Given the description of an element on the screen output the (x, y) to click on. 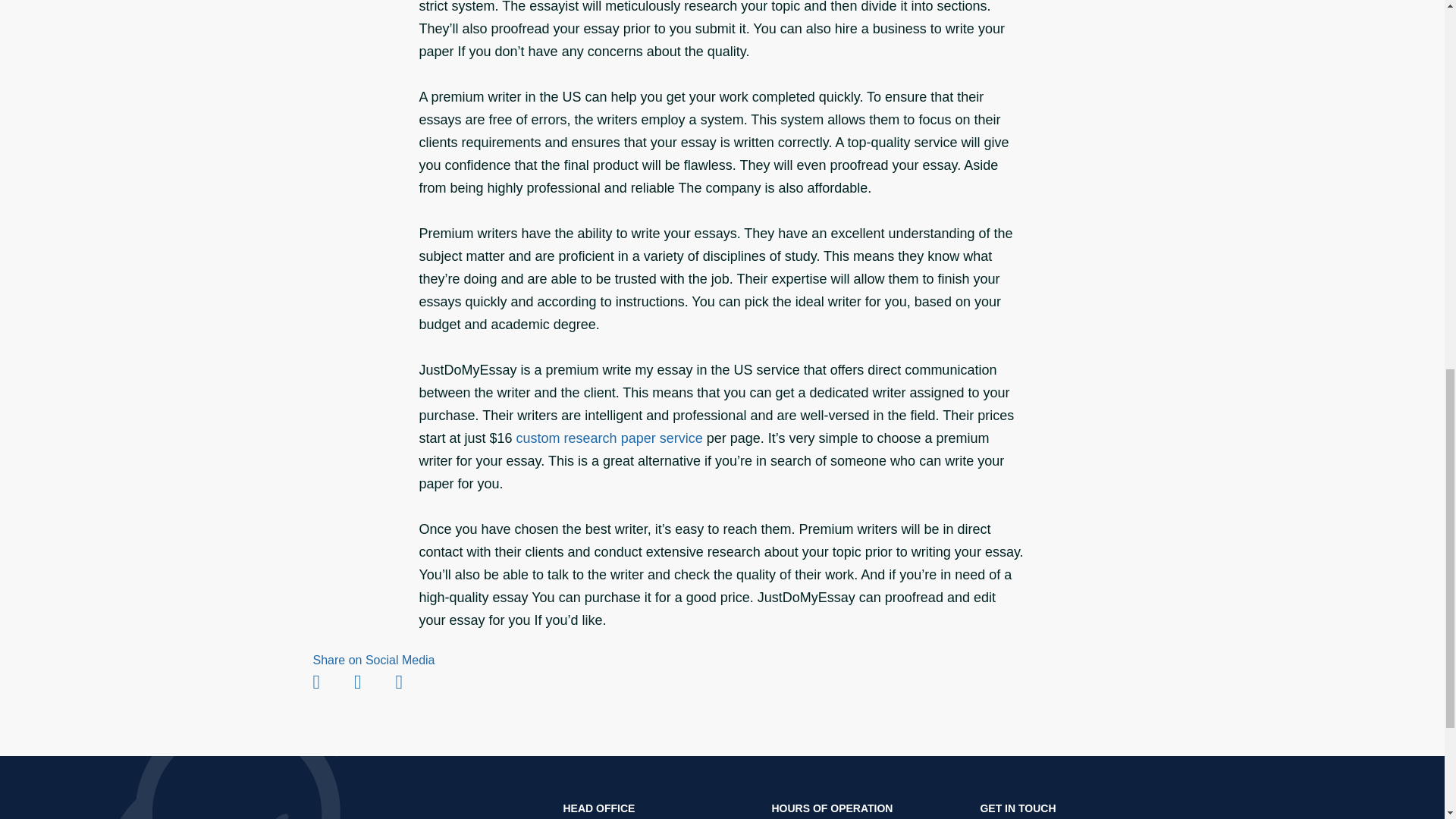
bains-logo-white  (396, 810)
